Given the description of an element on the screen output the (x, y) to click on. 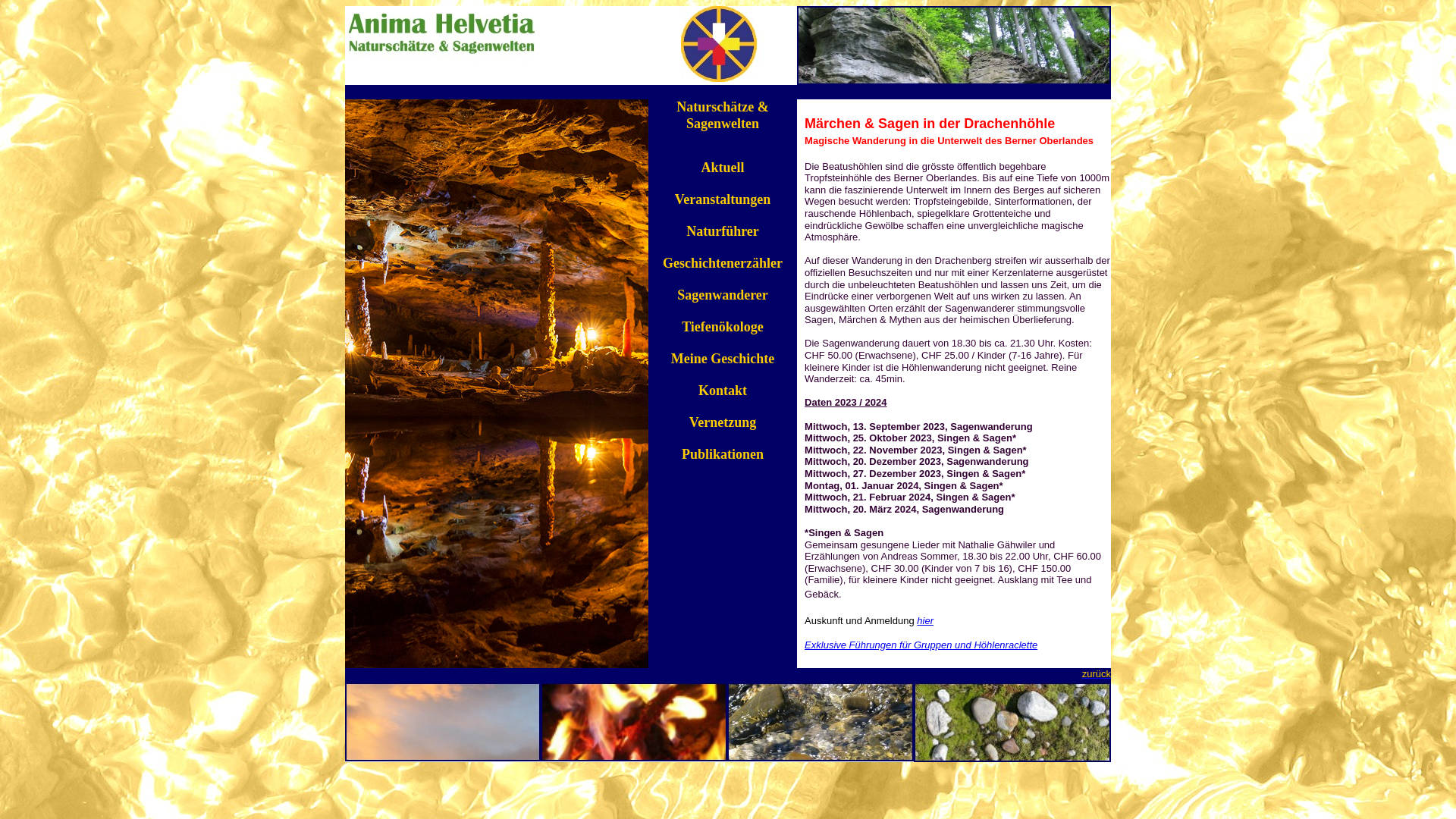
hier Element type: text (924, 620)
Meine Geschichte Element type: text (722, 358)
Aktuell Element type: text (721, 167)
Sagenwanderer Element type: text (722, 294)
Publikationen Element type: text (722, 453)
Vernetzung Element type: text (722, 421)
Veranstaltungen Element type: text (722, 199)
Kontakt Element type: text (722, 390)
